Given the description of an element on the screen output the (x, y) to click on. 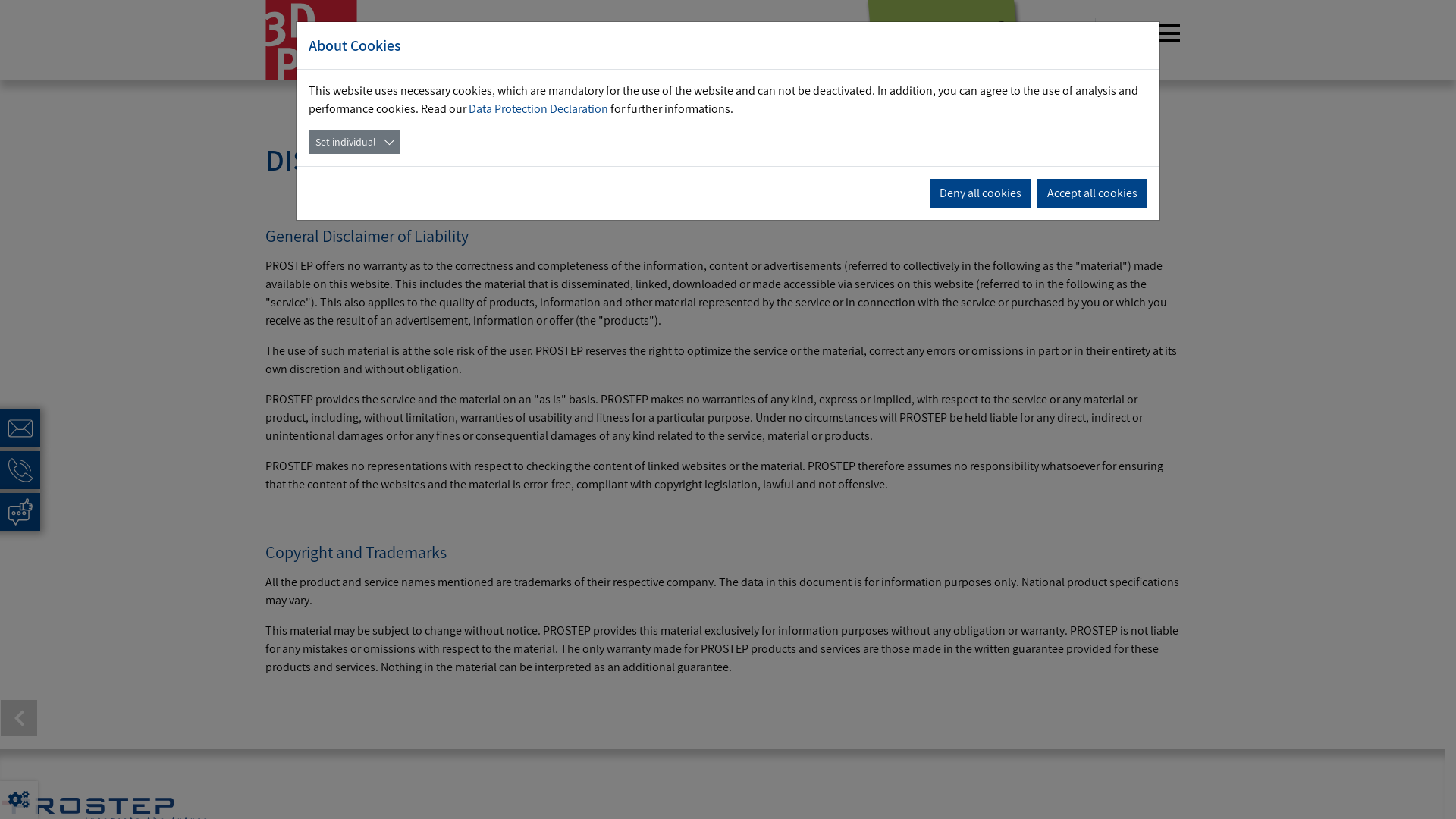
Deny all cookies Element type: text (980, 192)
Data Protection Declaration Element type: text (538, 108)
DE Element type: text (1056, 33)
Set individual Element type: text (353, 141)
Accept all cookies Element type: text (1092, 192)
